Given the description of an element on the screen output the (x, y) to click on. 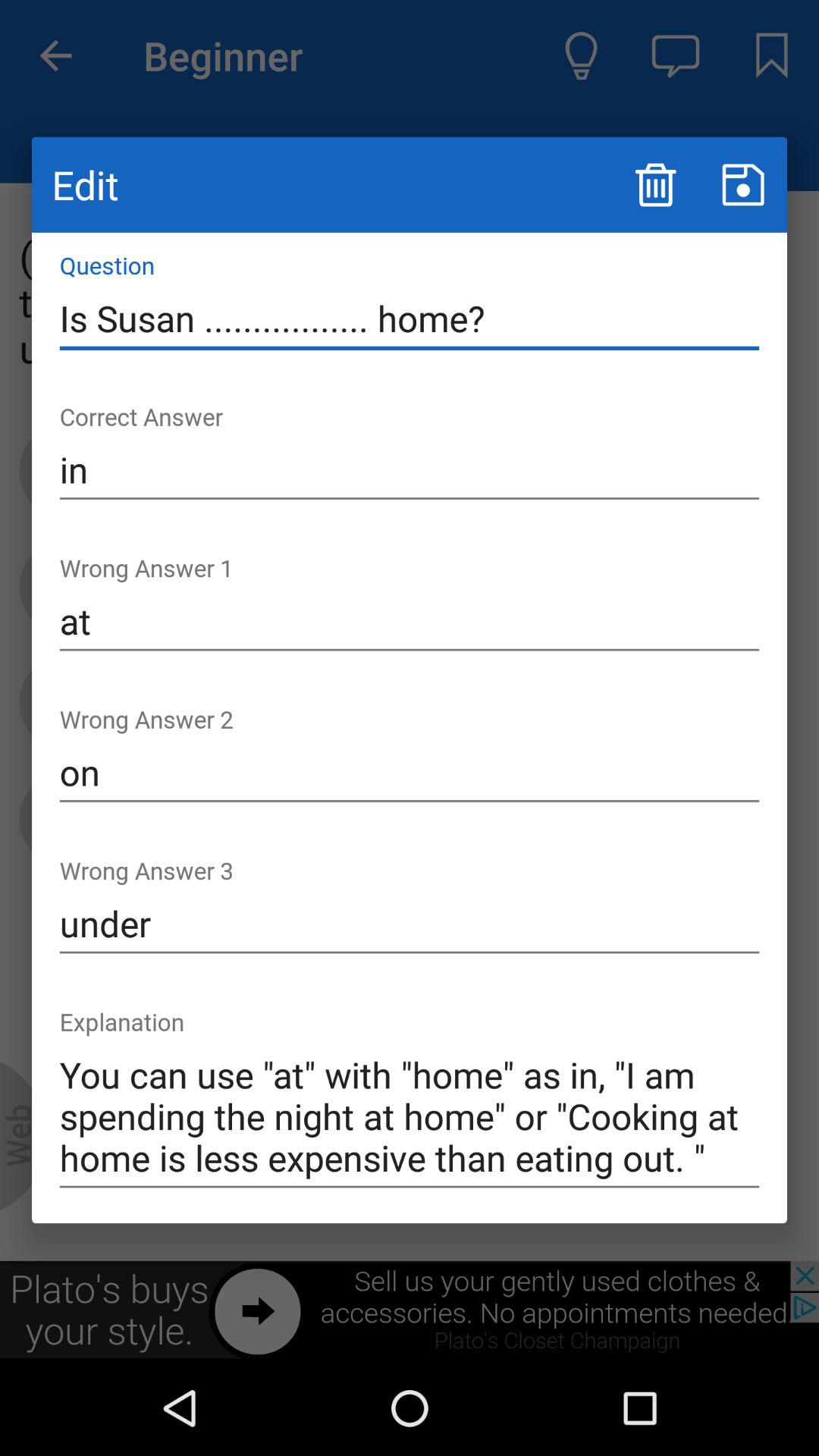
select trash (655, 184)
